Given the description of an element on the screen output the (x, y) to click on. 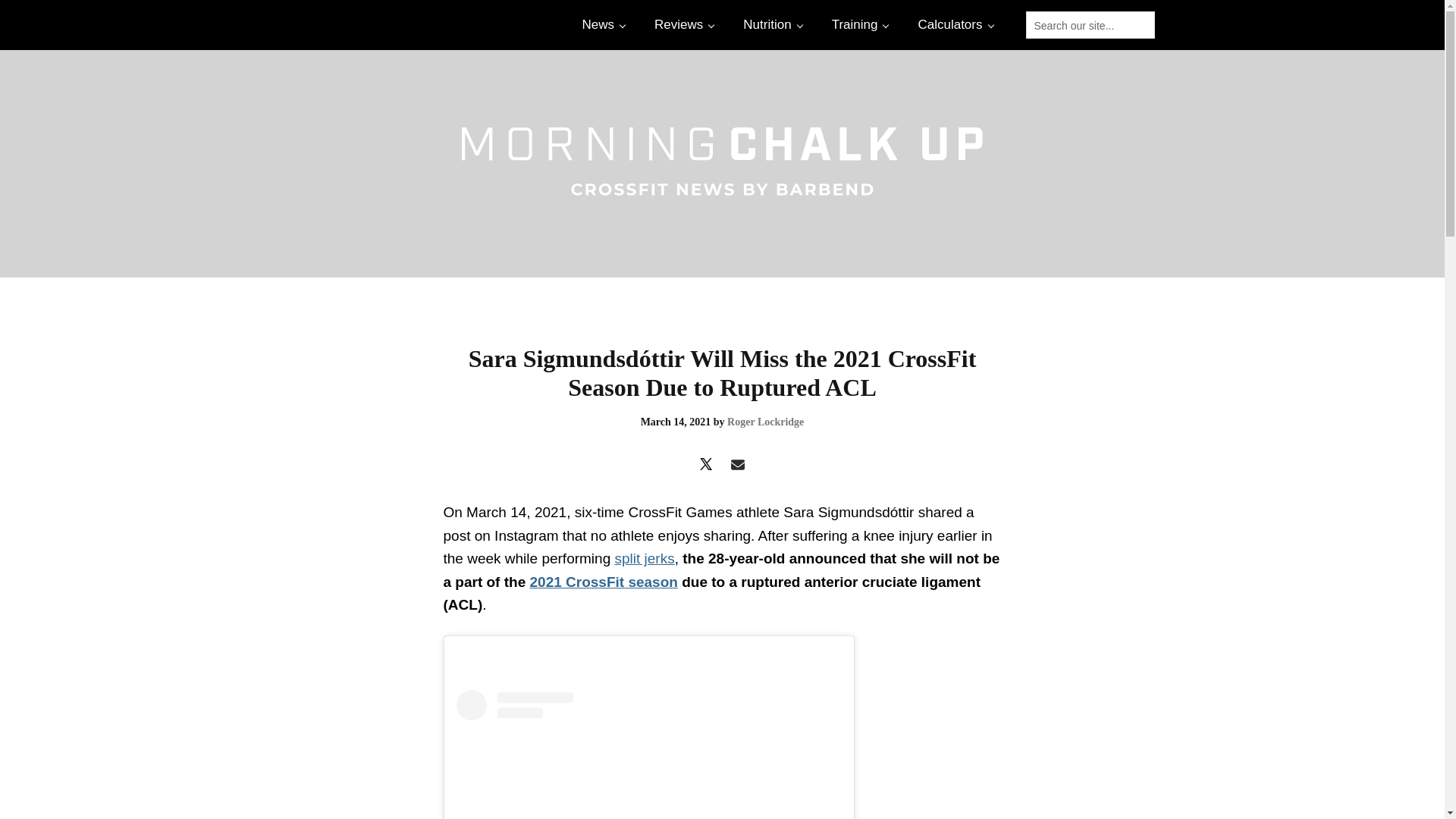
Posts by Roger Lockridge (764, 421)
News (602, 24)
Reviews (682, 24)
